Given the description of an element on the screen output the (x, y) to click on. 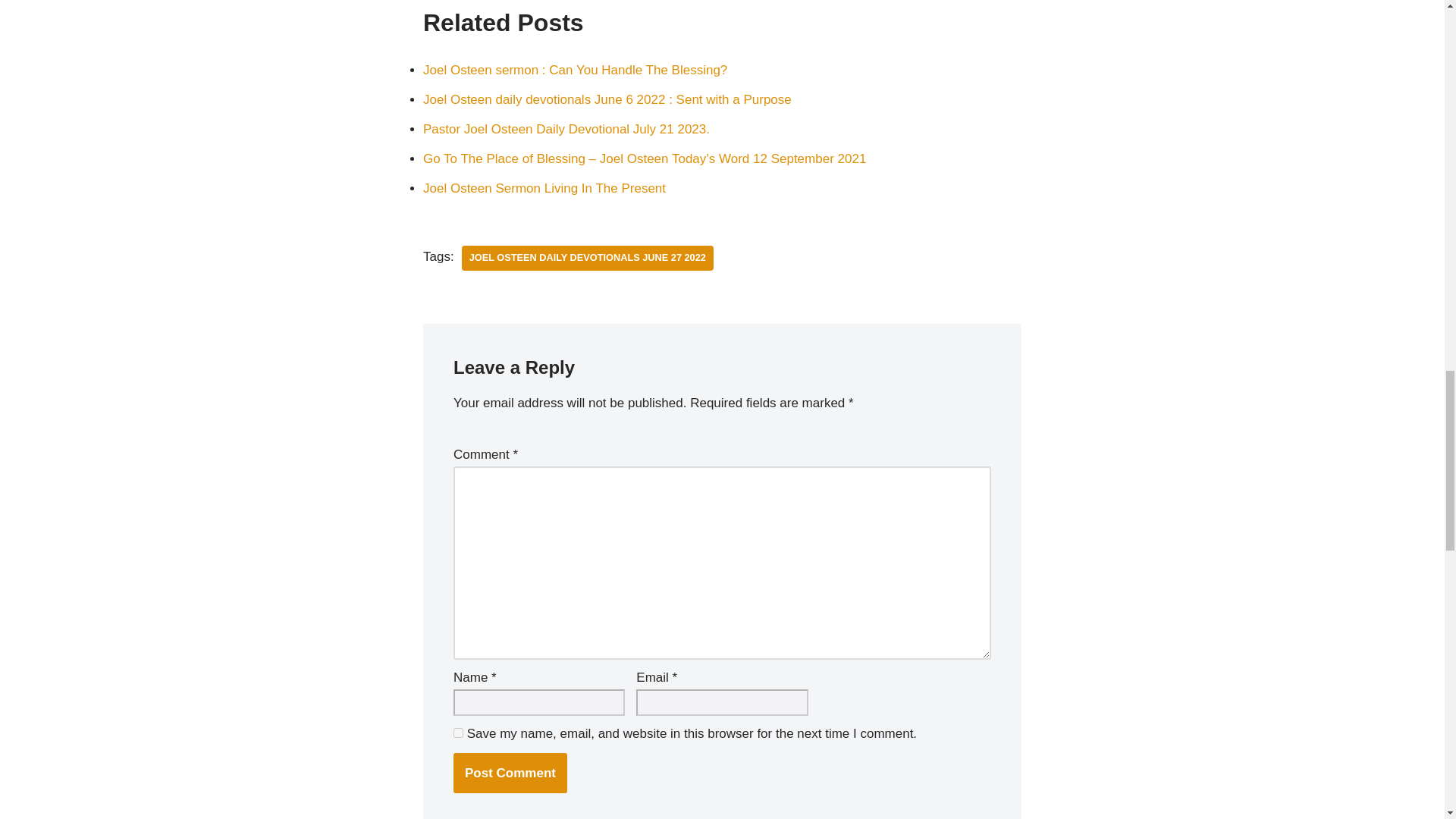
Joel Osteen Sermon Living In The Present (544, 187)
Joel Osteen daily devotionals June 27 2022 (587, 258)
Post Comment (509, 772)
yes (457, 732)
Post Comment (509, 772)
JOEL OSTEEN DAILY DEVOTIONALS JUNE 27 2022 (587, 258)
Pastor Joel Osteen Daily Devotional July 21 2023. (566, 129)
Joel Osteen sermon : Can You Handle The Blessing? (574, 69)
